Given the description of an element on the screen output the (x, y) to click on. 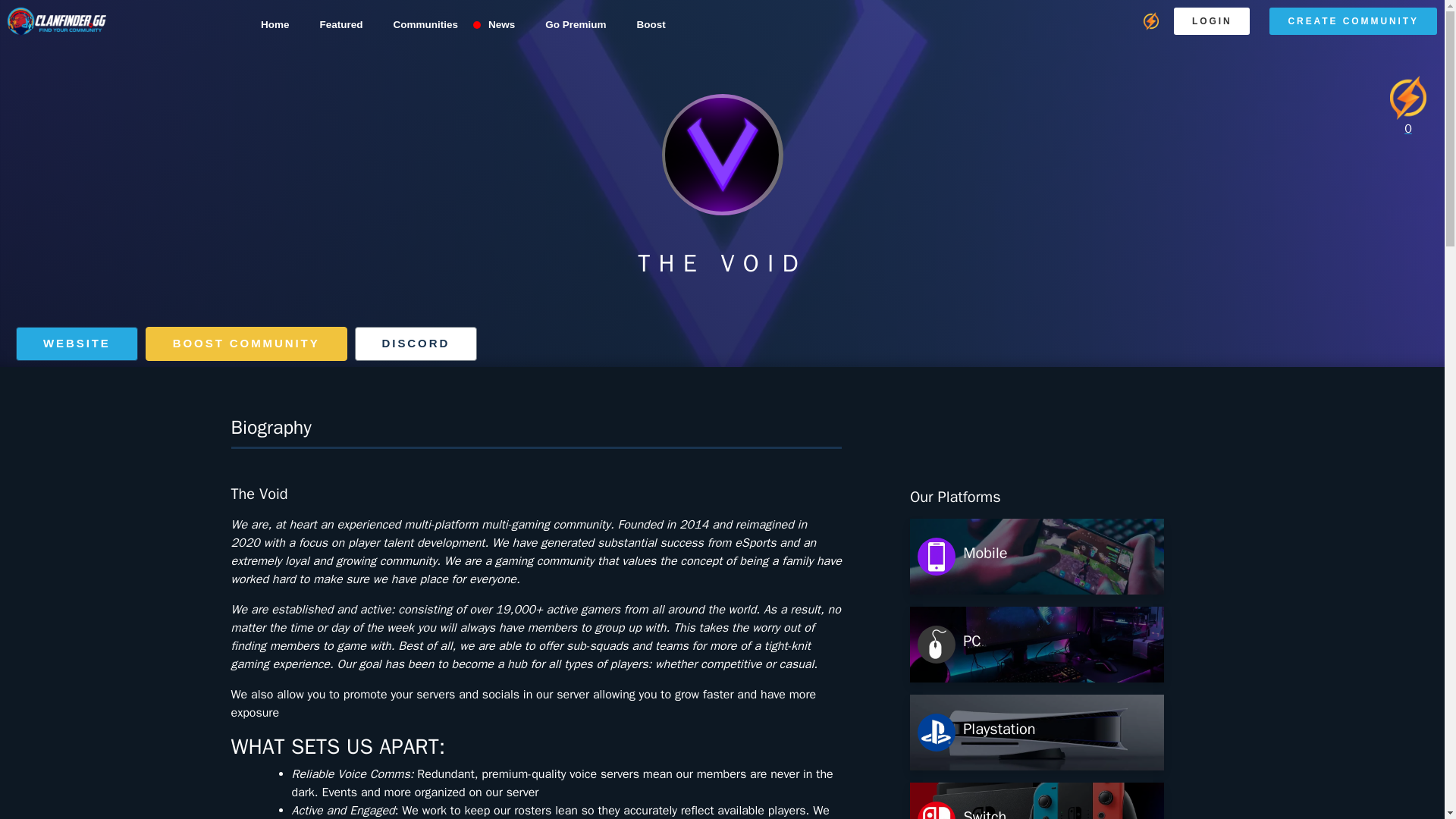
CREATE COMMUNITY (1353, 21)
Home (275, 24)
Discord (416, 343)
Join (77, 343)
News (501, 24)
Communities (425, 24)
Featured (340, 24)
LOGIN (1211, 21)
Boost (651, 24)
Go Premium (575, 24)
